Given the description of an element on the screen output the (x, y) to click on. 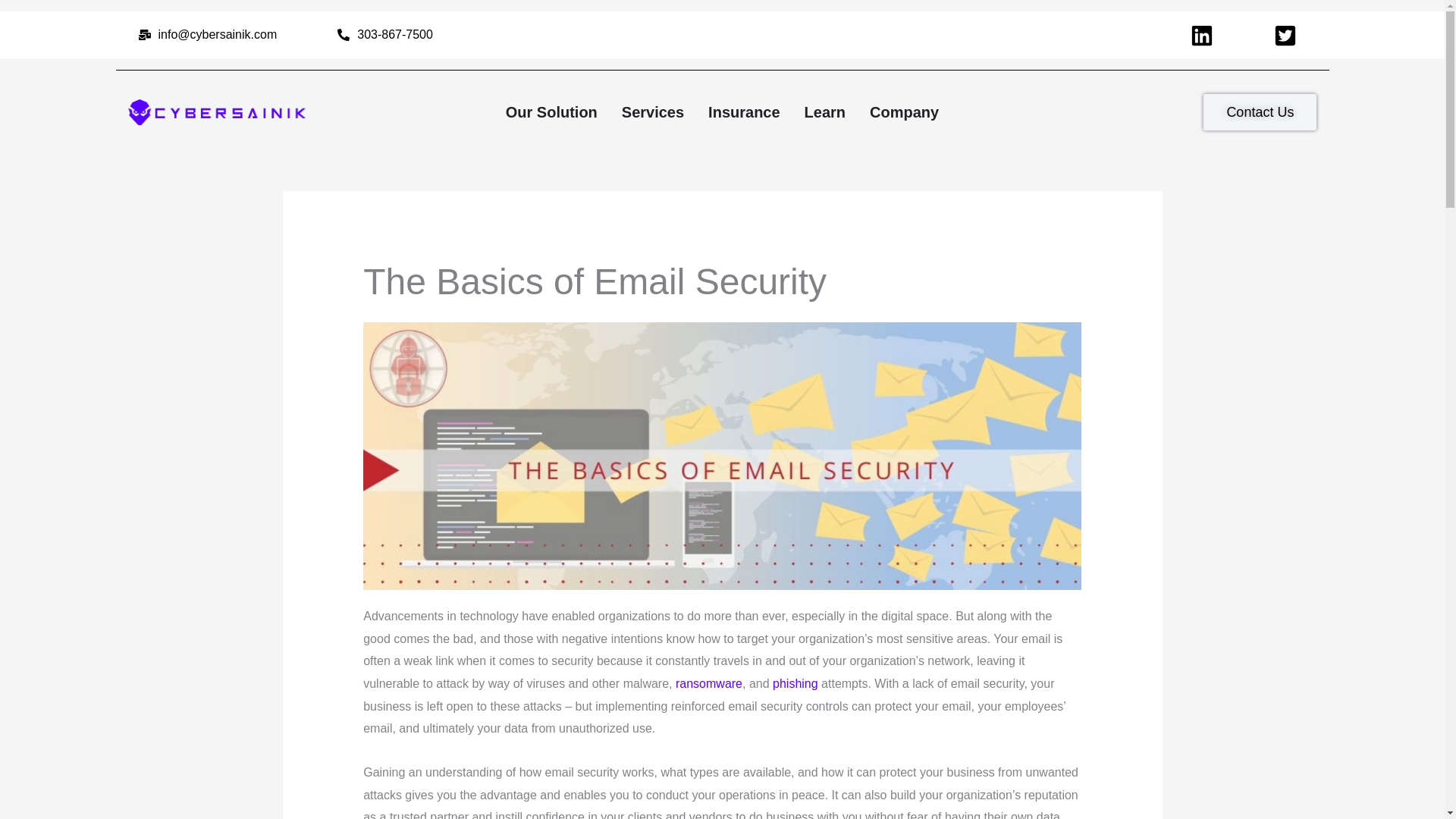
Company (904, 111)
Our Solution (550, 111)
303-867-7500 (384, 35)
Contact Us (1260, 112)
Insurance (742, 111)
phishing (795, 683)
Learn (825, 111)
Services (652, 111)
ransomware (708, 683)
